Given the description of an element on the screen output the (x, y) to click on. 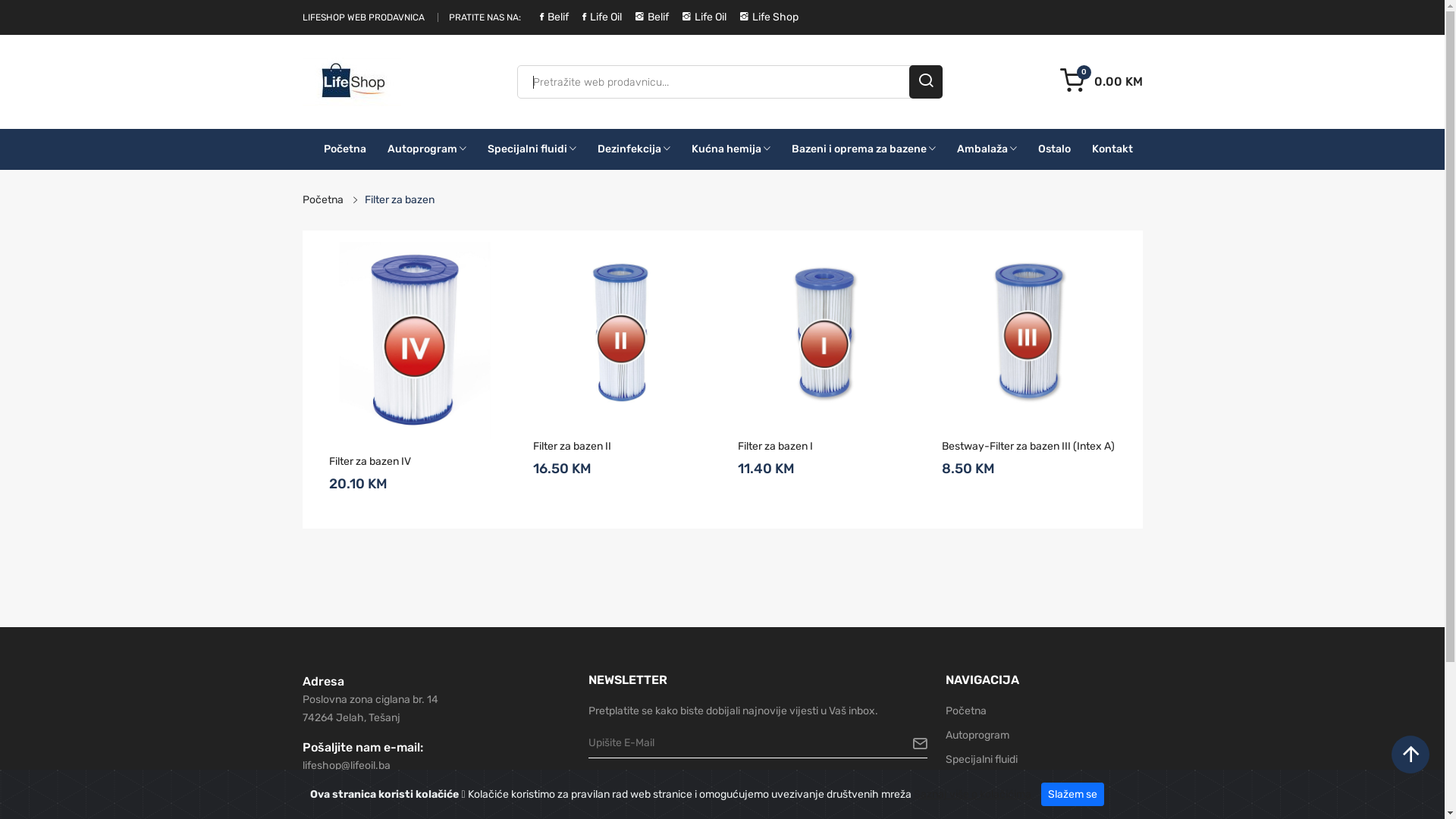
lifeshop@lifeoil.ba Element type: text (345, 765)
Filter za bazen II Element type: text (620, 445)
Belif Element type: text (547, 16)
Specijalni fluidi Element type: text (981, 759)
Dezinfekcija Element type: text (975, 784)
Autoprogram Element type: text (977, 735)
Life Oil Element type: text (697, 16)
Filter za bazen IV Element type: text (416, 461)
Specijalni fluidi Element type: text (530, 149)
0.00 KM Element type: text (1101, 82)
Life Oil Element type: text (595, 16)
Autoprogram Element type: text (425, 149)
Filter za bazen I Element type: text (824, 445)
Belif Element type: text (645, 16)
Kontakt Element type: text (1112, 149)
Bestway-Filter za bazen III (Intex A) Element type: text (1028, 445)
Life Shop Element type: text (762, 16)
Bazeni i oprema za bazene Element type: text (863, 149)
Dezinfekcija Element type: text (633, 149)
Ostalo Element type: text (1053, 149)
